Given the description of an element on the screen output the (x, y) to click on. 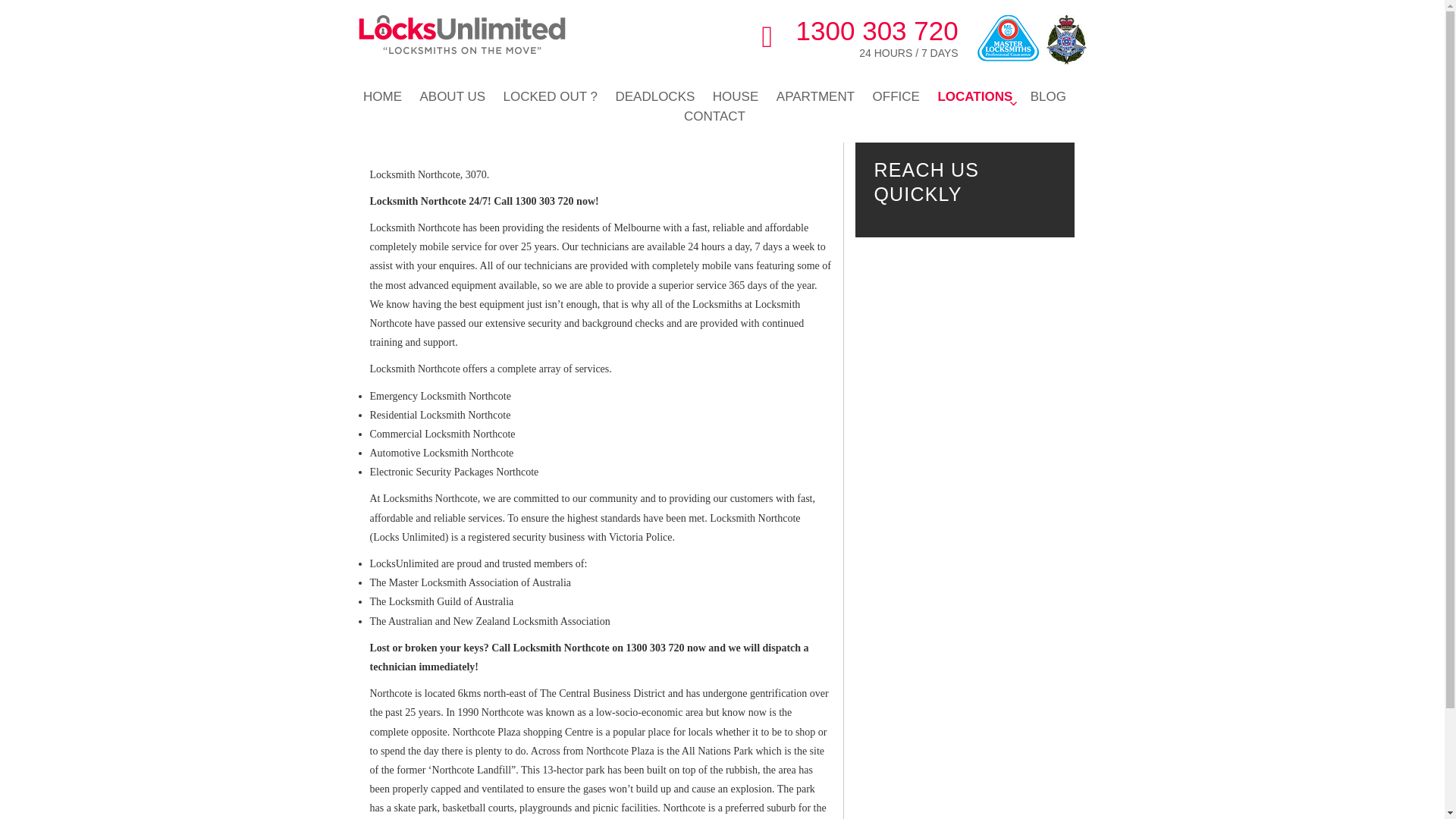
OFFICE (903, 96)
BLOG (1055, 96)
HOME (389, 96)
CONTACT (722, 116)
DEADLOCKS (662, 96)
ABOUT US (459, 96)
LOCATIONS (982, 96)
LOCKED OUT ? (557, 96)
APARTMENT (822, 96)
HOUSE (743, 96)
